Given the description of an element on the screen output the (x, y) to click on. 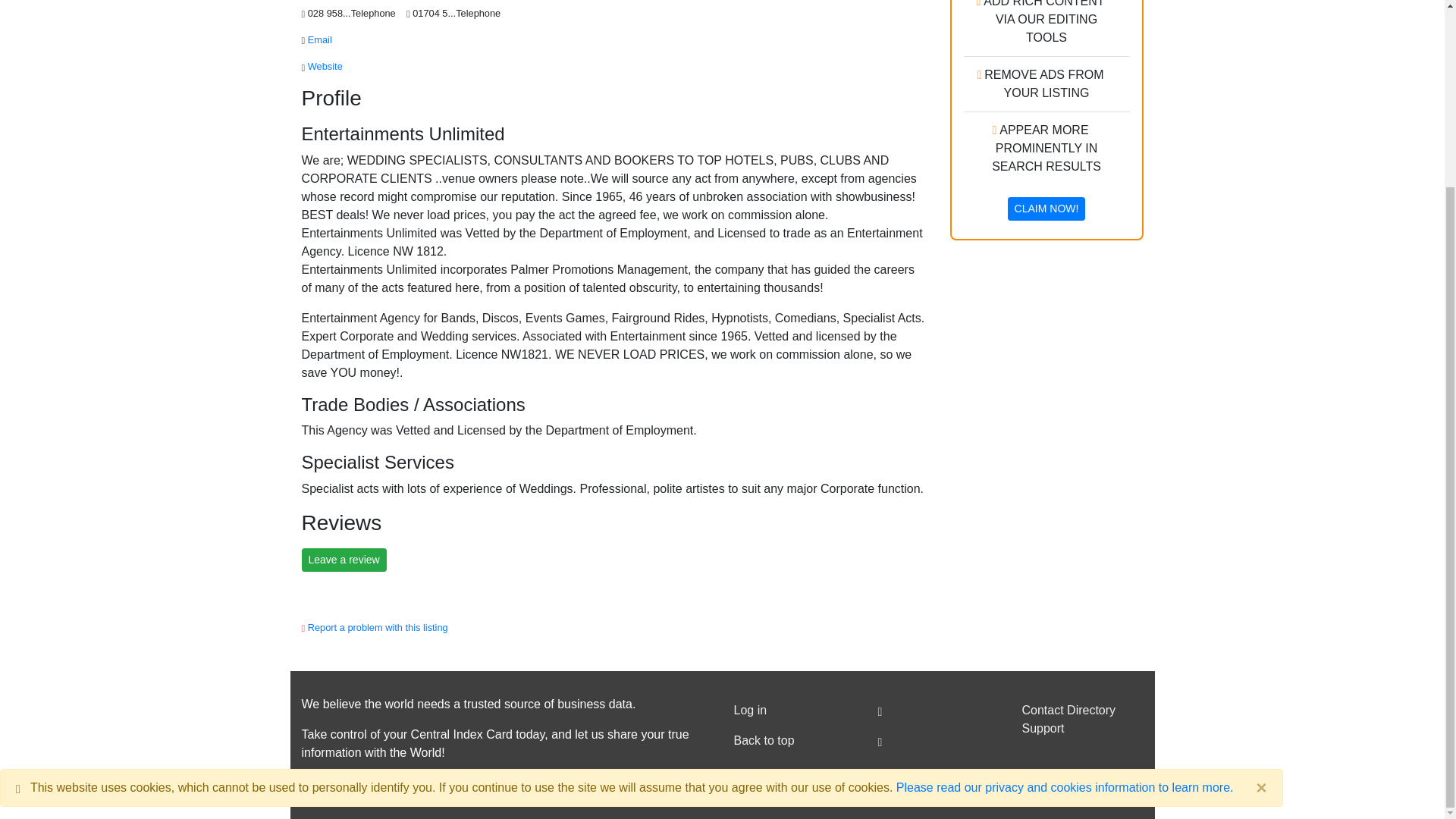
Website (326, 66)
Report a problem with this listing (377, 627)
CLAIM NOW! (1046, 208)
Back to top (794, 740)
Email (319, 39)
click to show number (352, 12)
Contact Directory Support (1082, 719)
click to show number (457, 12)
028 958...Telephone (352, 12)
Leave a review (344, 559)
Log in (794, 710)
01704 5...Telephone (457, 12)
